Given the description of an element on the screen output the (x, y) to click on. 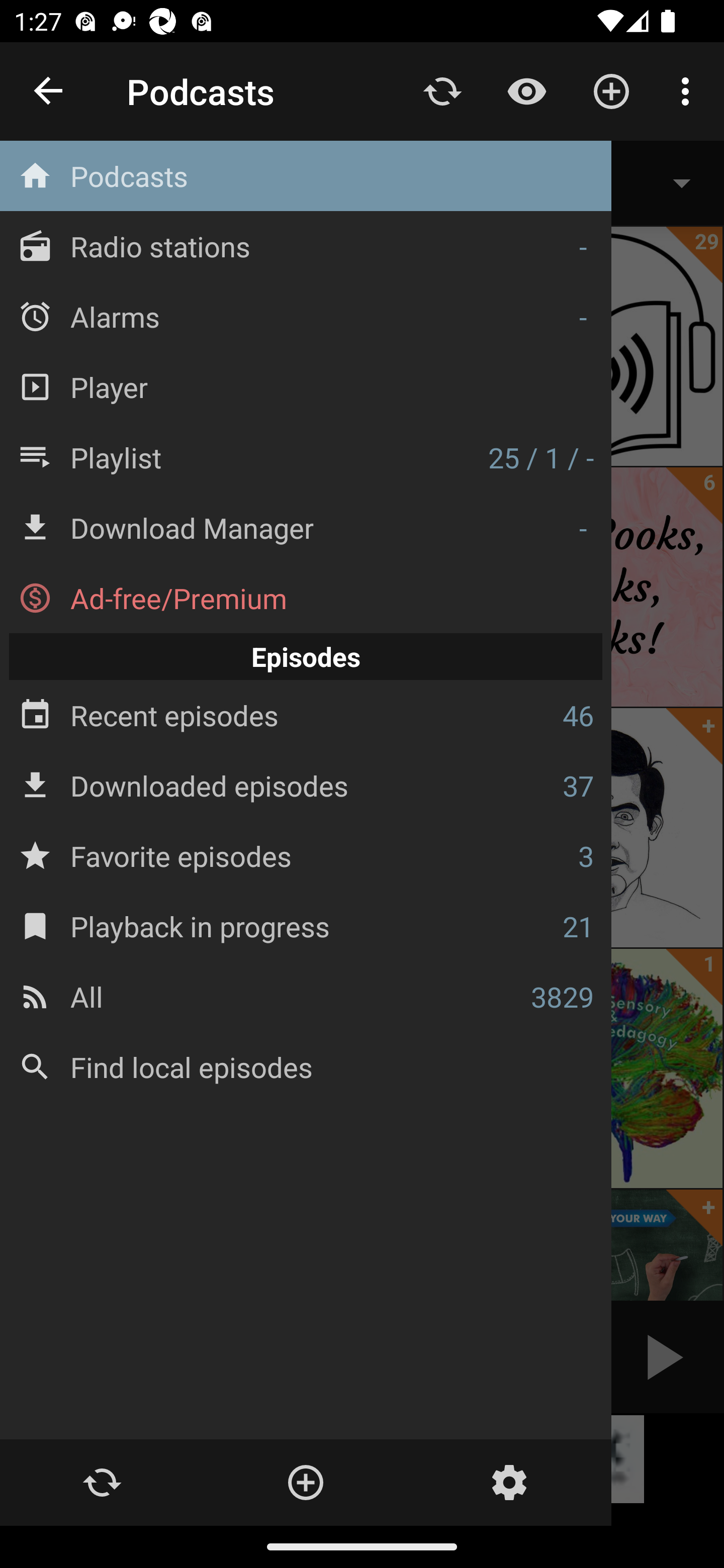
Close navigation sidebar (49, 91)
Update (442, 90)
Show / Hide played content (526, 90)
Add new Podcast (611, 90)
More options (688, 90)
Podcasts (305, 176)
Radio stations  -  (305, 245)
Alarms  -  (305, 315)
Player (305, 386)
Playlist 25 / 1 / - (305, 456)
Download Manager  -  (305, 527)
Ad-free/Premium (305, 597)
Recent episodes 46 (305, 715)
Downloaded episodes 37 (305, 785)
Favorite episodes 3 (305, 855)
Playback in progress 21 (305, 925)
All 3829 (305, 996)
Find local episodes (305, 1066)
Update (101, 1482)
Add new Podcast (304, 1482)
Settings (508, 1482)
